Given the description of an element on the screen output the (x, y) to click on. 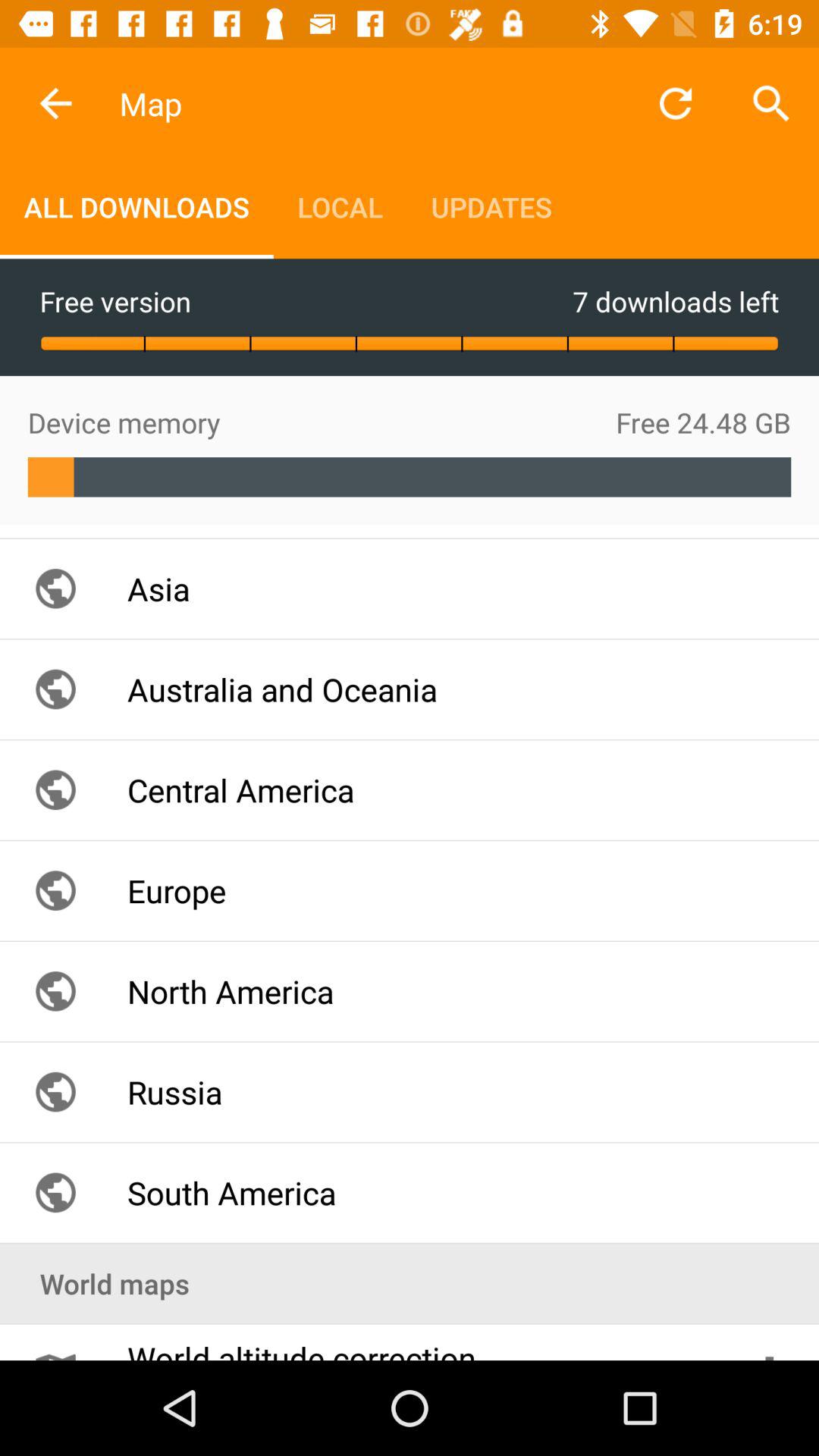
turn off all downloads item (136, 206)
